Given the description of an element on the screen output the (x, y) to click on. 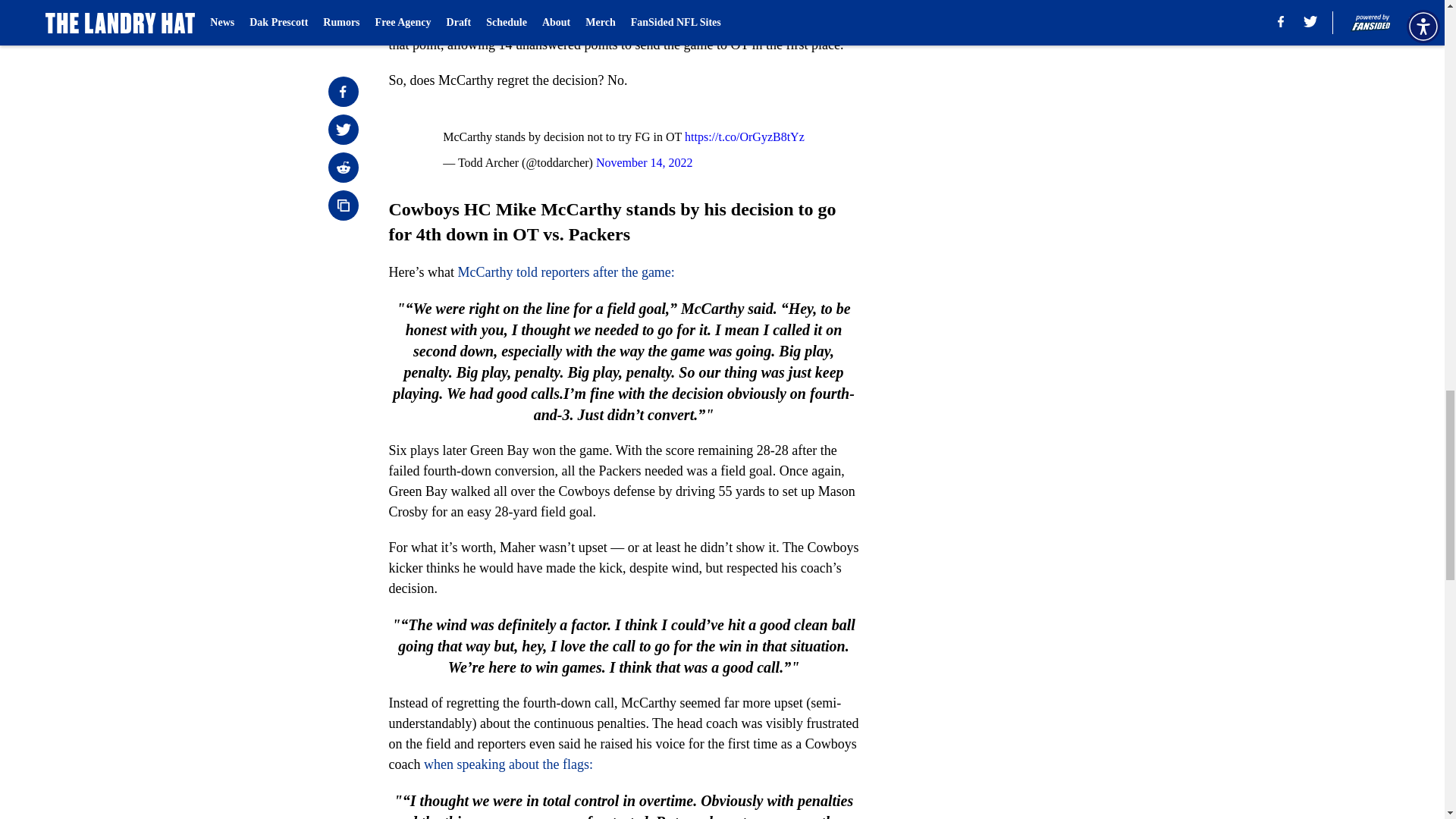
November 14, 2022 (644, 162)
when speaking about the flags: (506, 764)
McCarthy told reporters after the game: (565, 272)
